Given the description of an element on the screen output the (x, y) to click on. 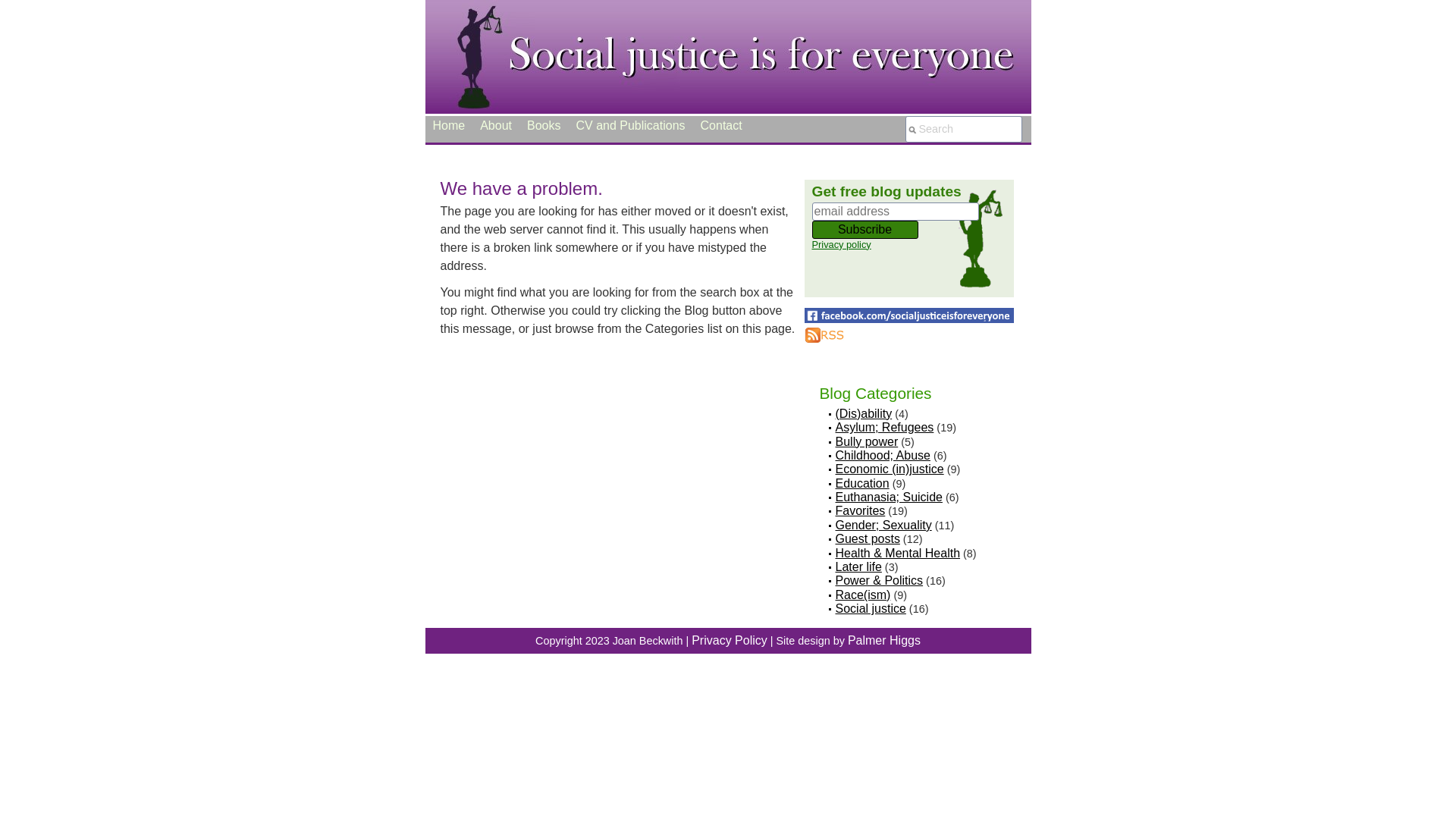
Privacy policy Element type: text (840, 244)
Euthanasia; Suicide Element type: text (888, 496)
Subscribe to this blog with RSS Element type: hover (823, 334)
Gender; Sexuality Element type: text (883, 524)
Later life Element type: text (858, 566)
CV and Publications Element type: text (629, 125)
the SocialJusticeisforEveryone facebook page Element type: hover (908, 315)
Privacy Policy Element type: text (729, 639)
Childhood; Abuse Element type: text (882, 454)
Guest posts Element type: text (867, 538)
Favorites Element type: text (860, 510)
Please check your email address before clicking here Element type: hover (912, 229)
Health & Mental Health Element type: text (897, 552)
Education Element type: text (862, 482)
Books Element type: text (543, 125)
Social justice Element type: text (870, 608)
Contact Element type: text (721, 125)
Economic (in)justice Element type: text (889, 468)
Subscribe Element type: text (864, 229)
Race(ism) Element type: text (863, 594)
Home Element type: text (448, 125)
Asylum; Refugees Element type: text (884, 426)
Palmer Higgs Element type: text (883, 639)
About Element type: text (495, 125)
Bully power Element type: text (866, 441)
Power & Politics Element type: text (879, 580)
(Dis)ability Element type: text (863, 413)
